Given the description of an element on the screen output the (x, y) to click on. 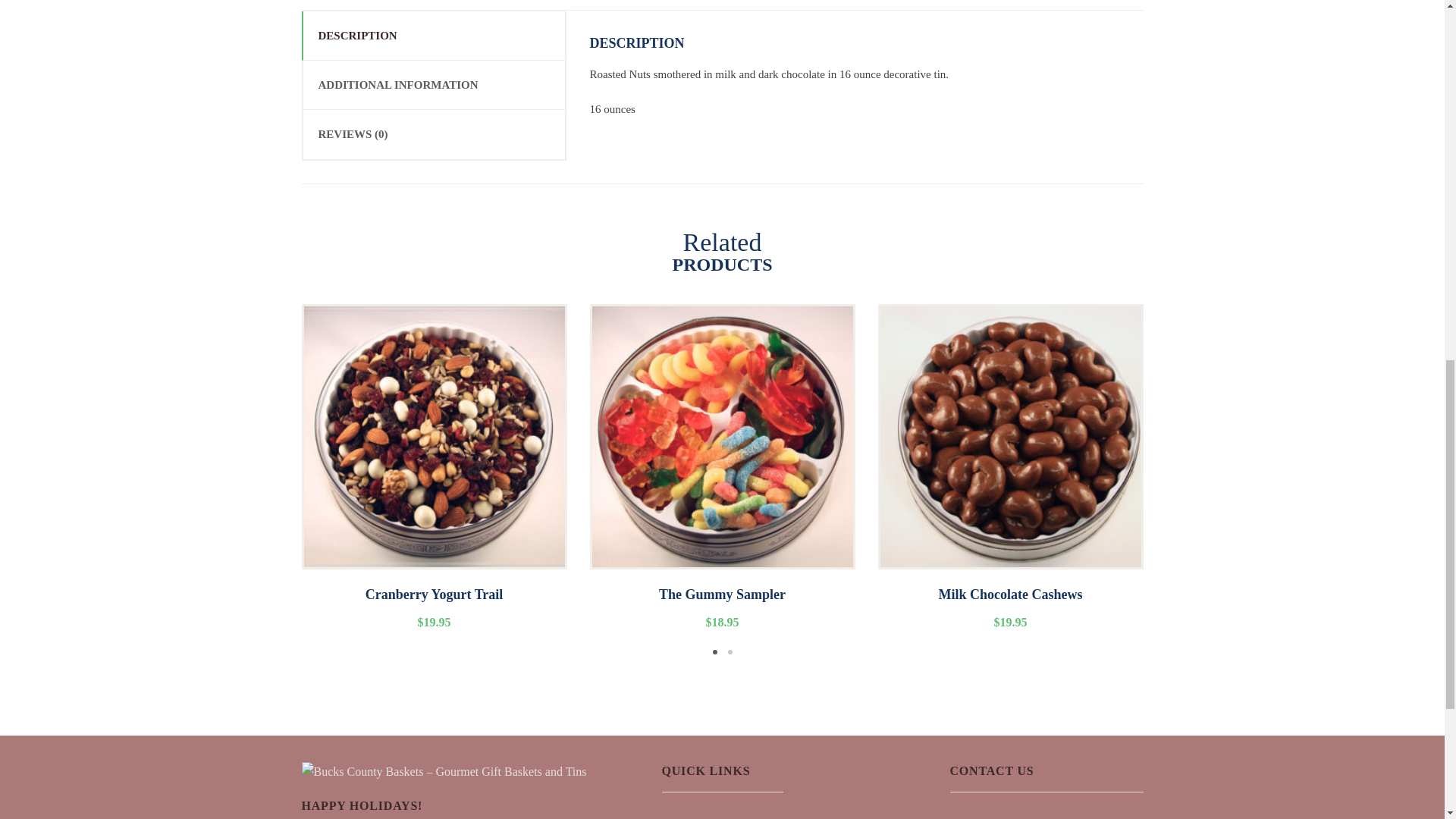
Cranberry Yogurt Trail (434, 606)
DESCRIPTION (434, 35)
ADDITIONAL INFORMATION (434, 84)
Previous (278, 482)
